Given the description of an element on the screen output the (x, y) to click on. 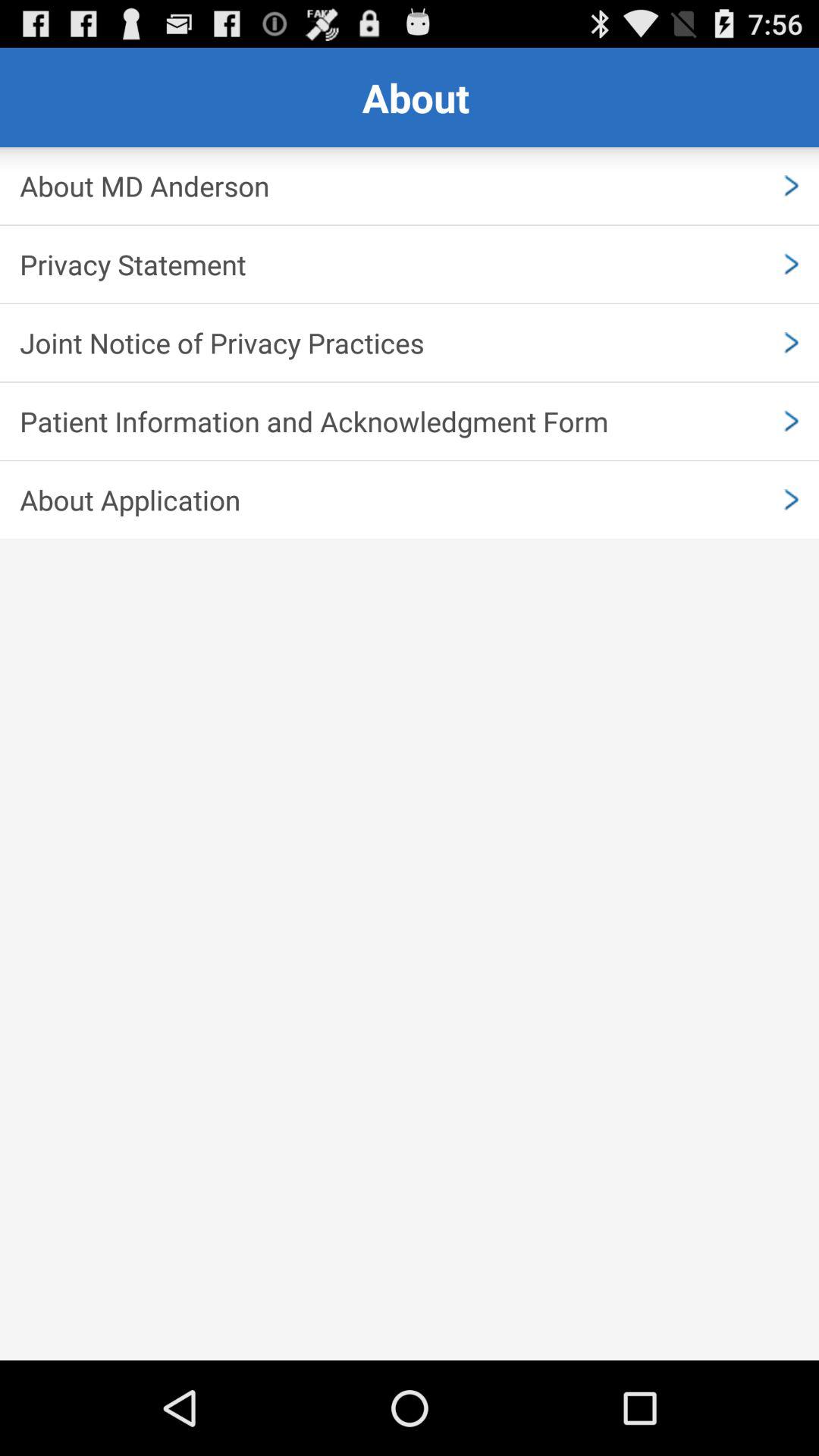
open icon above the joint notice of item (409, 264)
